Given the description of an element on the screen output the (x, y) to click on. 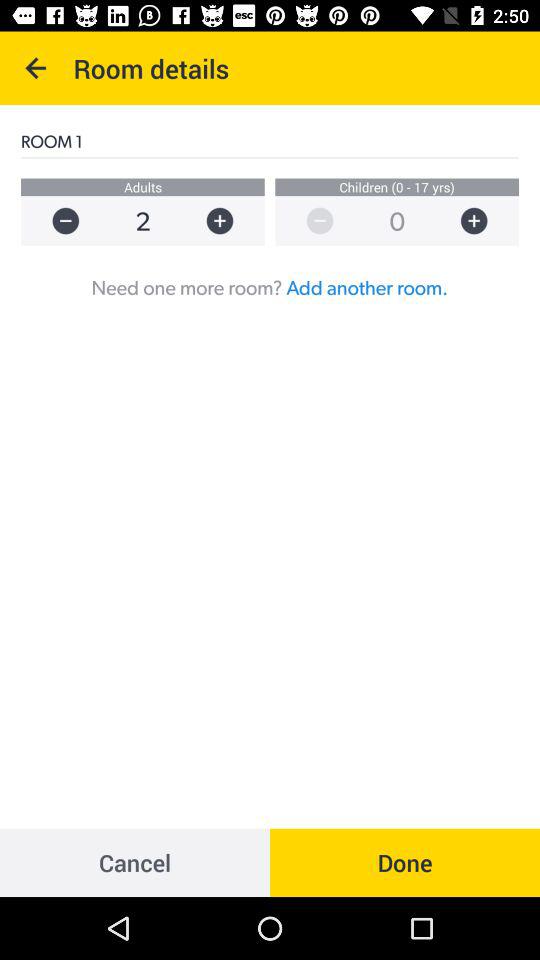
choose the item to the left of the room details icon (36, 68)
